Given the description of an element on the screen output the (x, y) to click on. 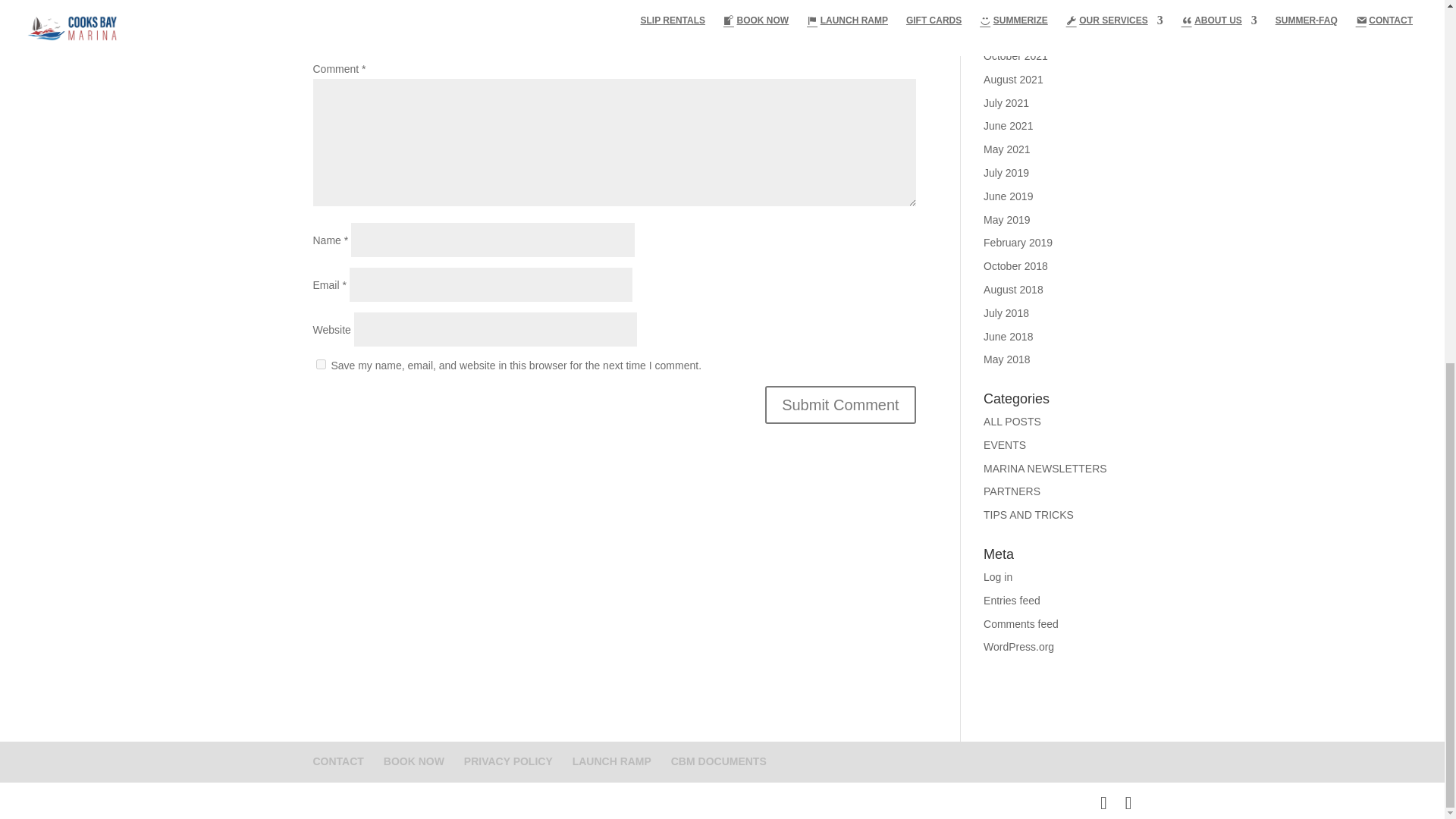
May 2022 (1006, 9)
Submit Comment (840, 404)
July 2021 (1006, 102)
yes (319, 364)
October 2021 (1016, 55)
January 2022 (1016, 32)
August 2021 (1013, 79)
Submit Comment (840, 404)
